Given the description of an element on the screen output the (x, y) to click on. 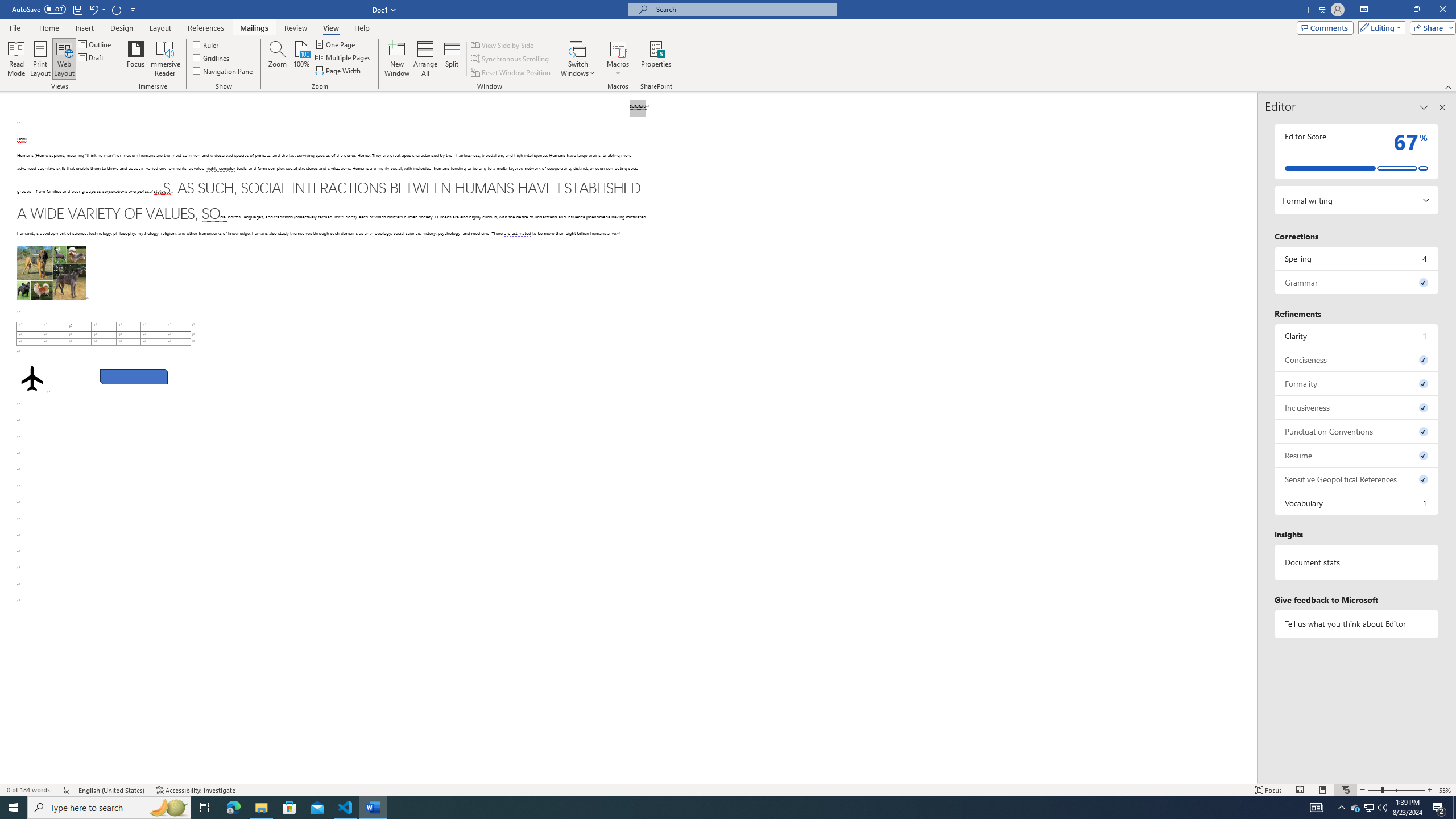
Split (451, 58)
Rectangle: Diagonal Corners Snipped 2 (133, 376)
Focus (135, 58)
Zoom... (276, 58)
New Window (396, 58)
